Given the description of an element on the screen output the (x, y) to click on. 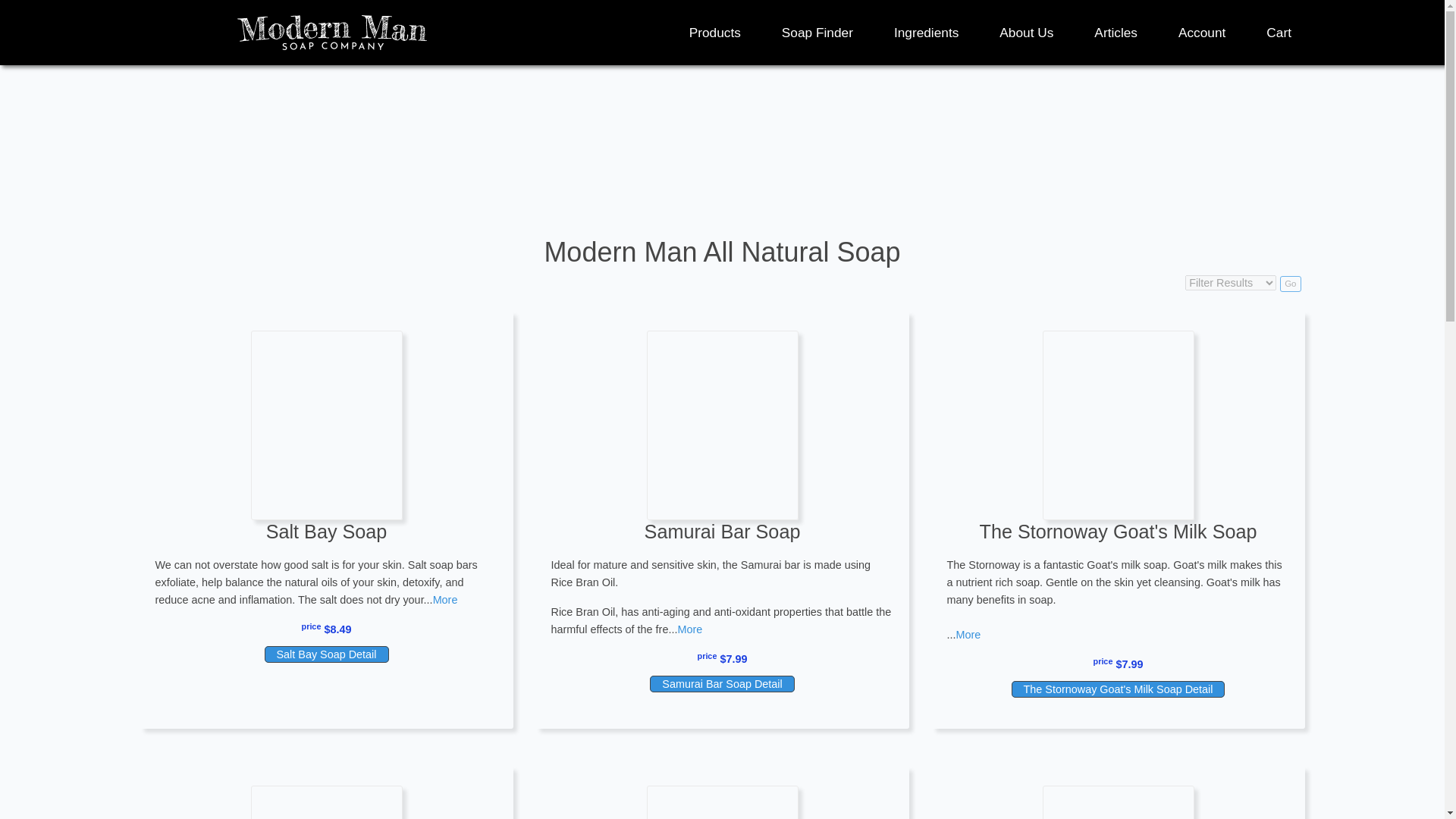
Articles (1115, 32)
Cart (1278, 32)
Ingredients (925, 32)
go (1289, 283)
About Us (1025, 32)
Soap Finder (817, 32)
More (689, 629)
Products (714, 32)
go (1289, 283)
The Stornoway Goat's Milk Soap Detail (1118, 688)
